Given the description of an element on the screen output the (x, y) to click on. 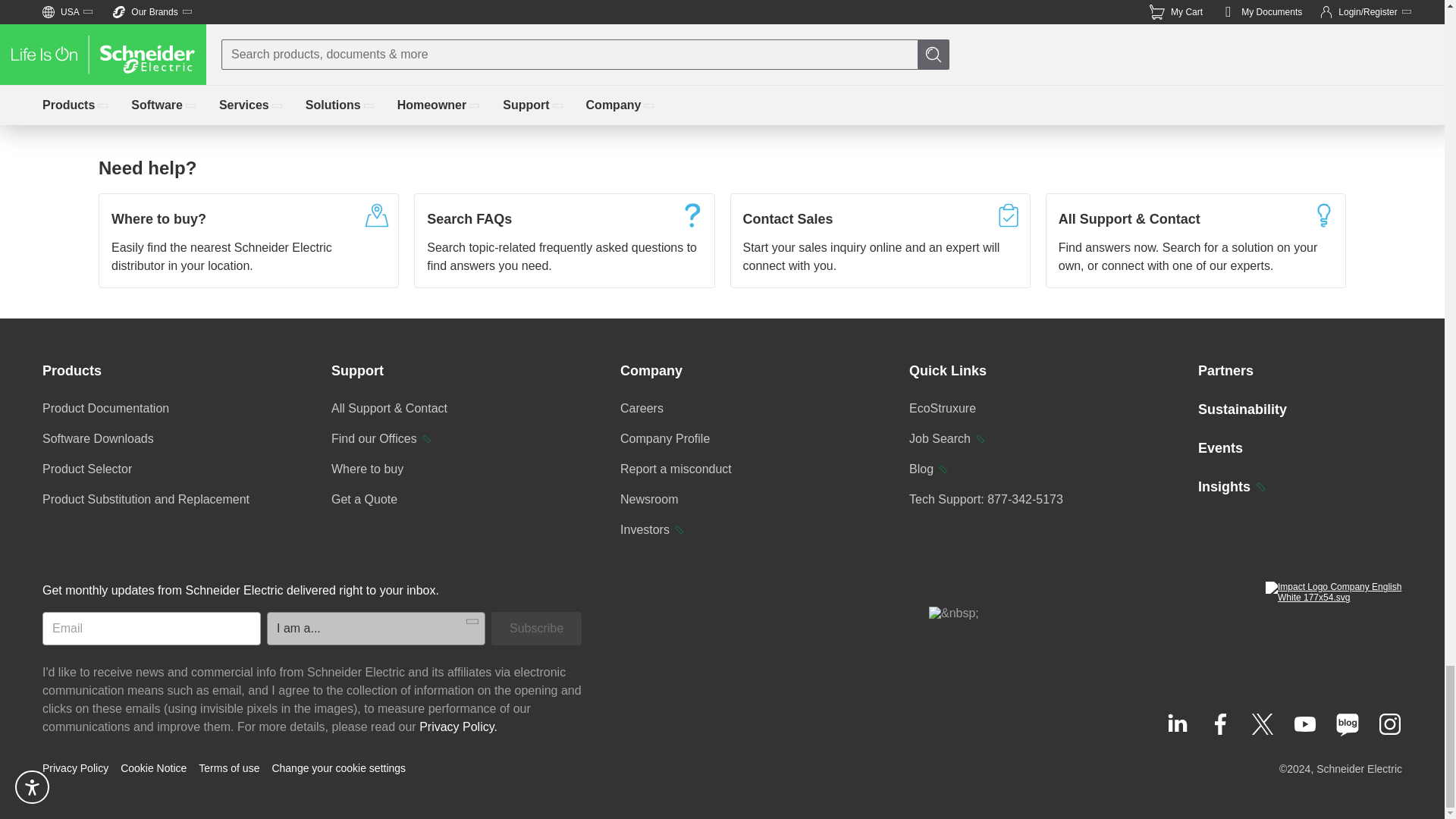
Find our Offices (381, 438)
Get a Quote (364, 499)
Software Downloads (98, 438)
Product Selector (87, 469)
Where to buy (367, 469)
Product Substitution and Replacement (145, 499)
Product Documentation (105, 408)
